Given the description of an element on the screen output the (x, y) to click on. 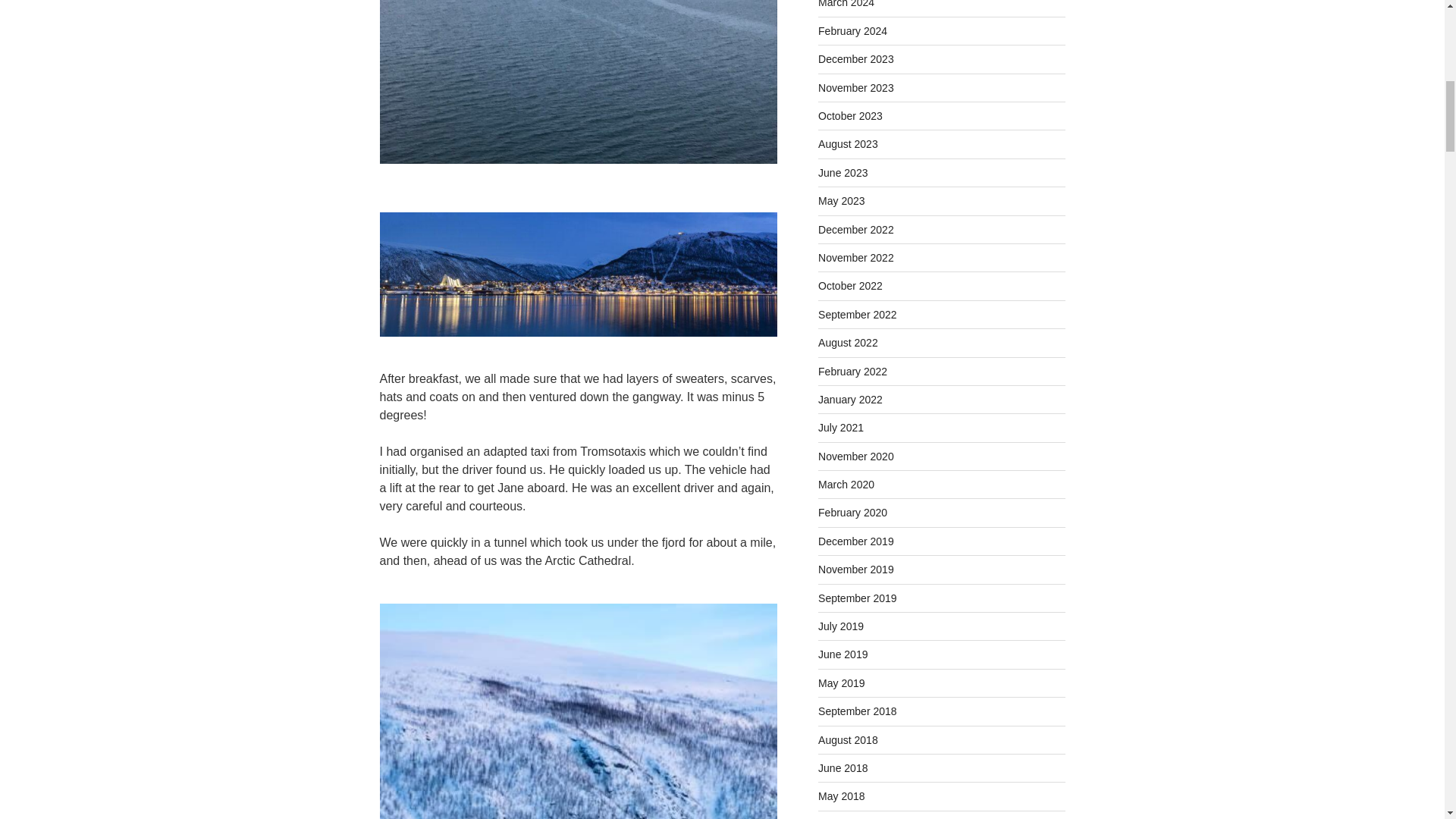
March 2024 (846, 4)
December 2023 (855, 59)
June 2023 (842, 173)
August 2023 (847, 143)
December 2022 (855, 229)
May 2023 (841, 200)
February 2024 (852, 30)
October 2023 (850, 115)
November 2022 (855, 257)
November 2023 (855, 87)
